Given the description of an element on the screen output the (x, y) to click on. 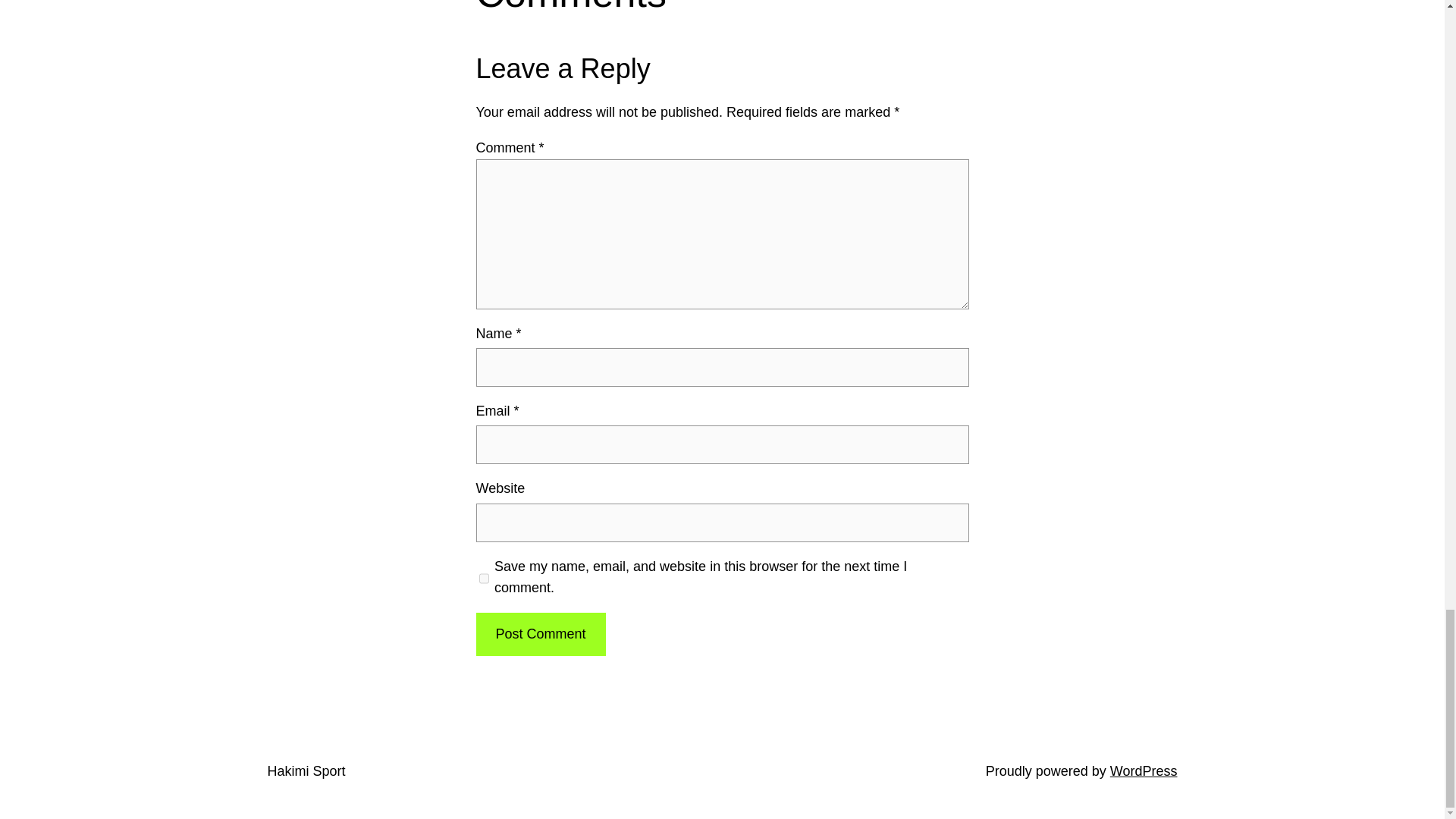
Post Comment (540, 634)
WordPress (1143, 770)
Post Comment (540, 634)
Hakimi Sport (305, 770)
